Given the description of an element on the screen output the (x, y) to click on. 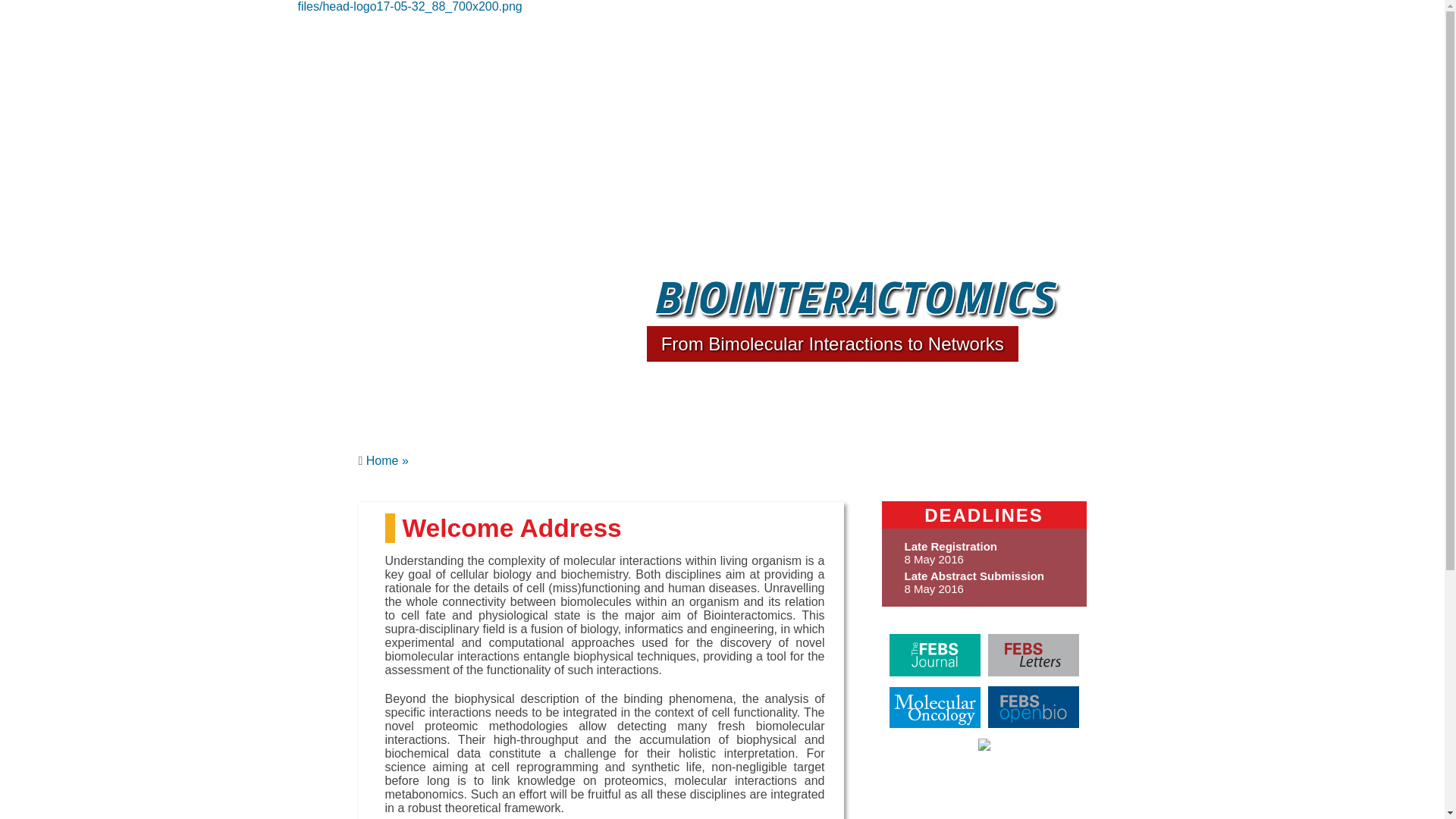
Programme (464, 130)
Registration (611, 130)
Home Page (409, 6)
Speakers (391, 130)
Dinner (847, 130)
Venue (948, 130)
LOG IN (1030, 30)
Sponsorship (1016, 130)
Organizers (1094, 130)
Accommodation (769, 130)
